Given the description of an element on the screen output the (x, y) to click on. 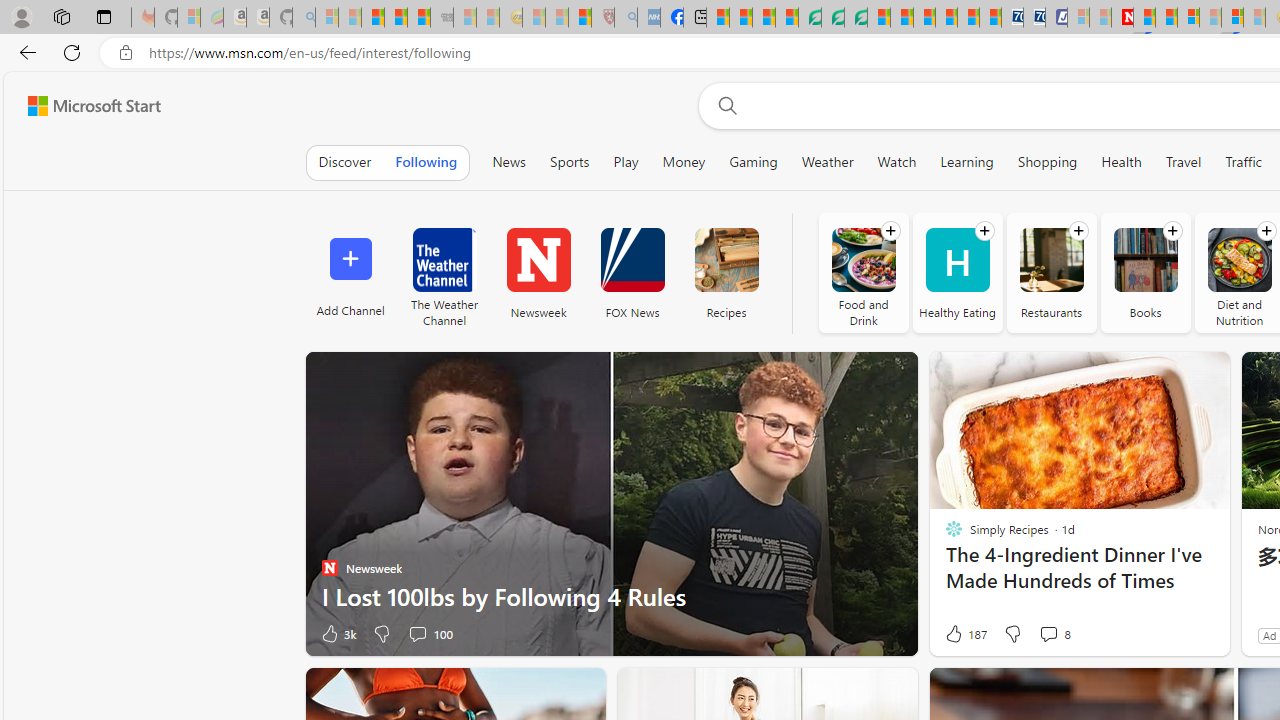
Food and Drink (863, 260)
View comments 100 Comment (417, 633)
Play (625, 161)
Traffic (1243, 161)
Microsoft Word - consumer-privacy address update 2.2021 (855, 17)
3k Like (337, 633)
Sports (569, 161)
Food and Drink (862, 272)
